Given the description of an element on the screen output the (x, y) to click on. 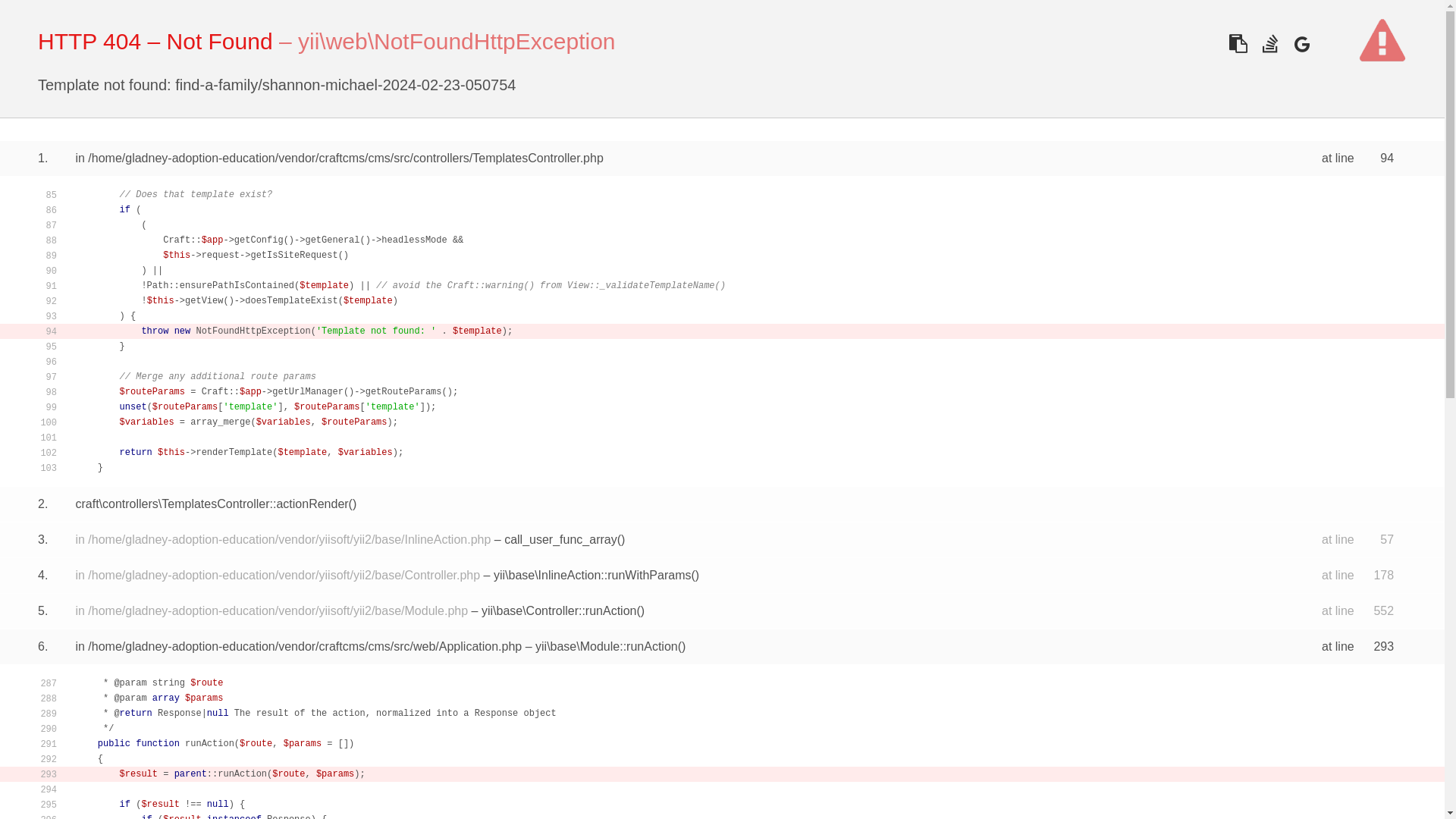
Search error on Stackoverflow (1269, 43)
Search error on Google (1301, 43)
Copy the stacktrace for use in a bug report or pastebin (1237, 43)
